Given the description of an element on the screen output the (x, y) to click on. 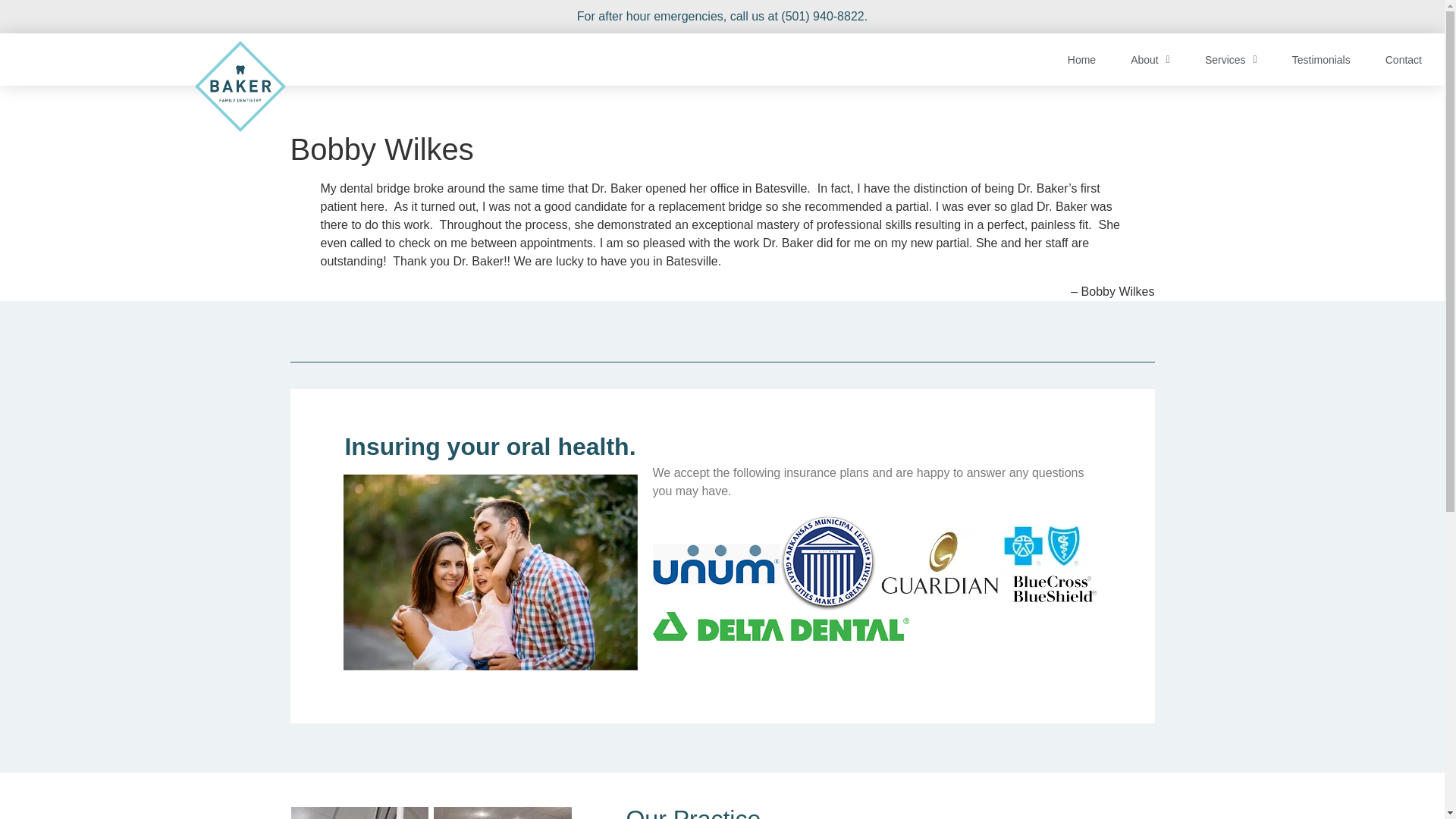
About (1150, 58)
Home (1081, 58)
Testimonials (1320, 58)
Services (1230, 58)
Contact (1403, 58)
